Given the description of an element on the screen output the (x, y) to click on. 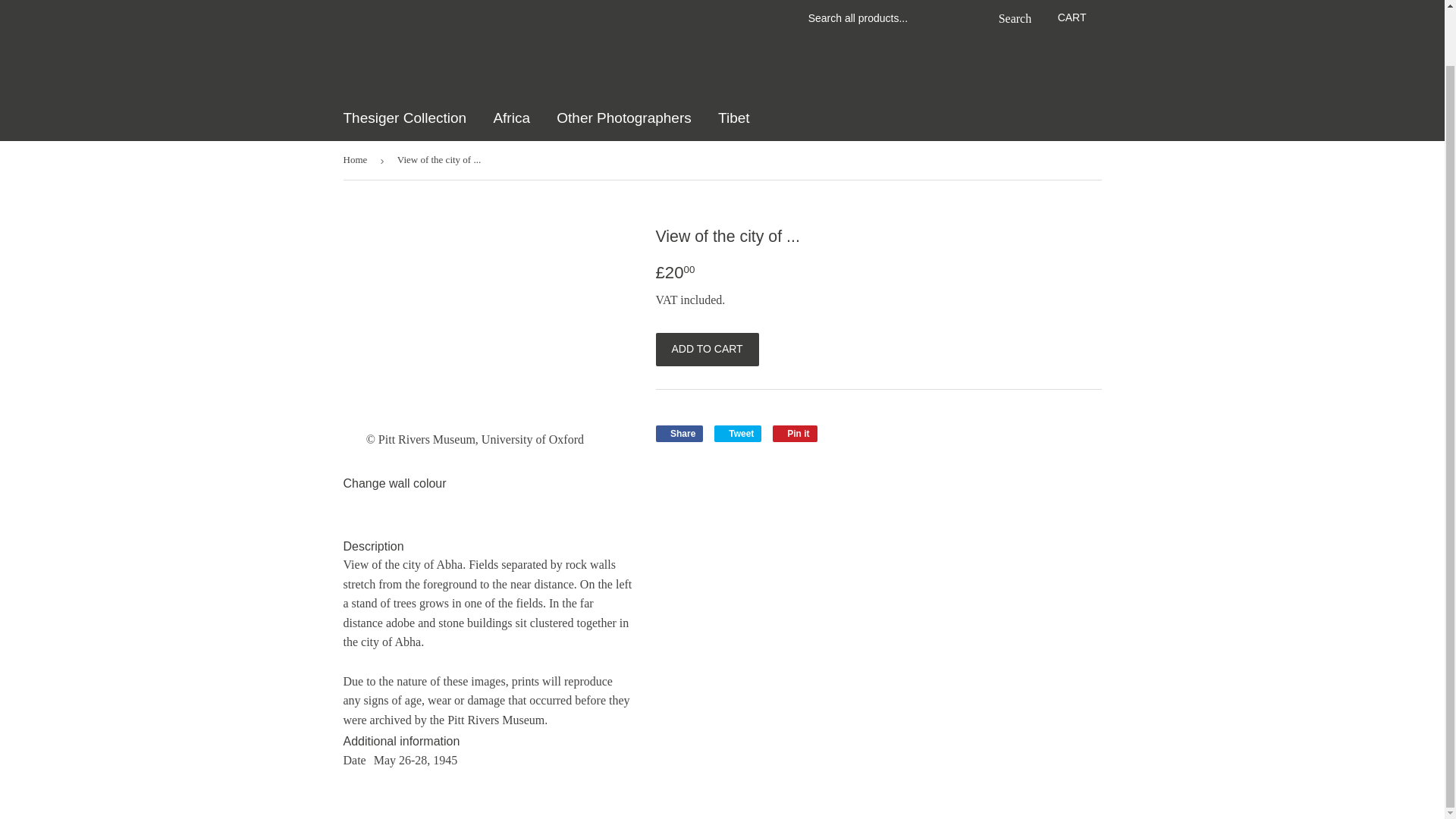
Search (1010, 18)
Pin on Pinterest (794, 433)
Tweet on Twitter (737, 433)
Africa (511, 117)
Thesiger Collection (405, 117)
Share on Facebook (679, 433)
CART (1072, 17)
